Given the description of an element on the screen output the (x, y) to click on. 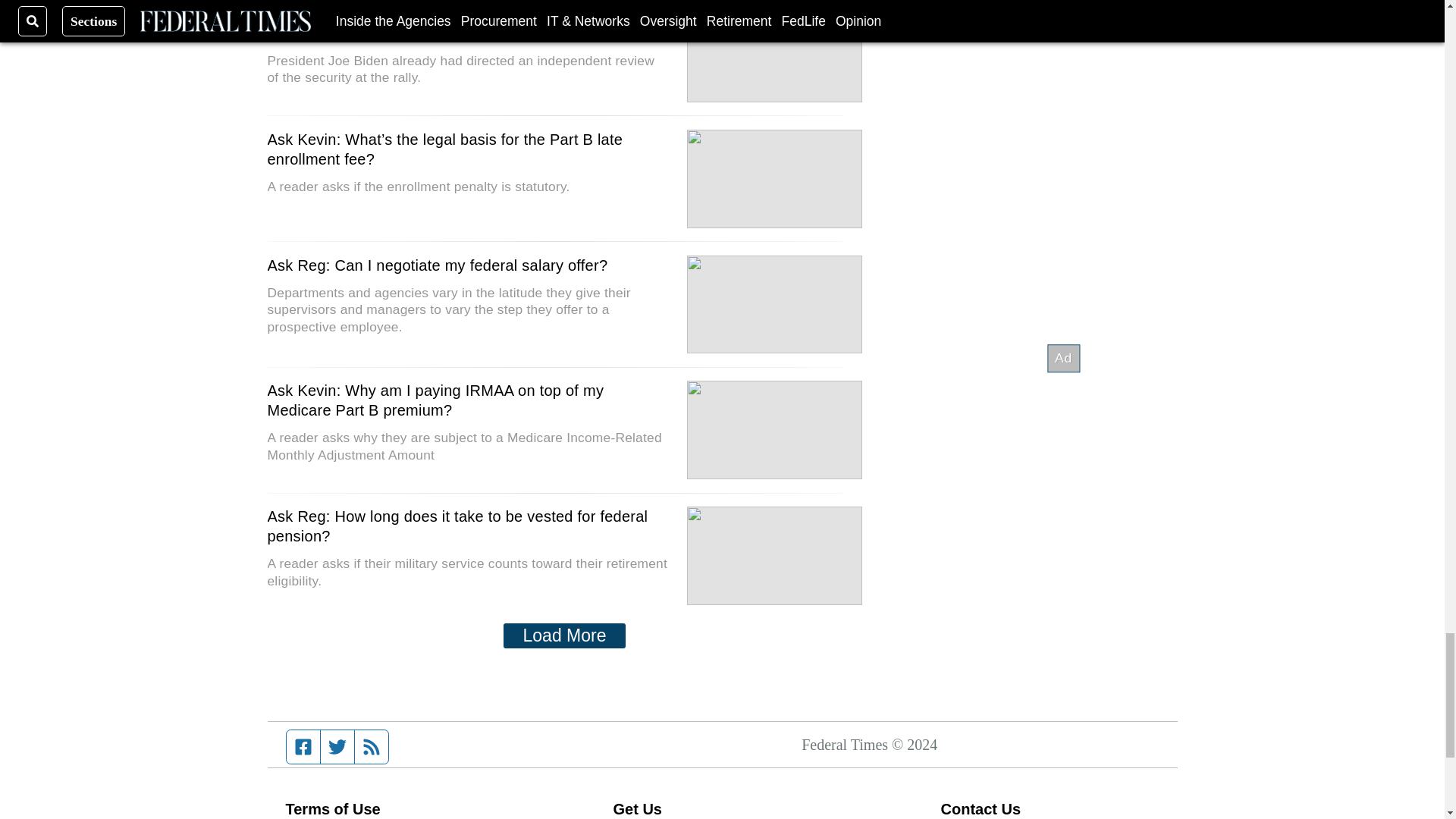
RSS feed (371, 746)
Twitter feed (336, 746)
Facebook page (303, 746)
